Given the description of an element on the screen output the (x, y) to click on. 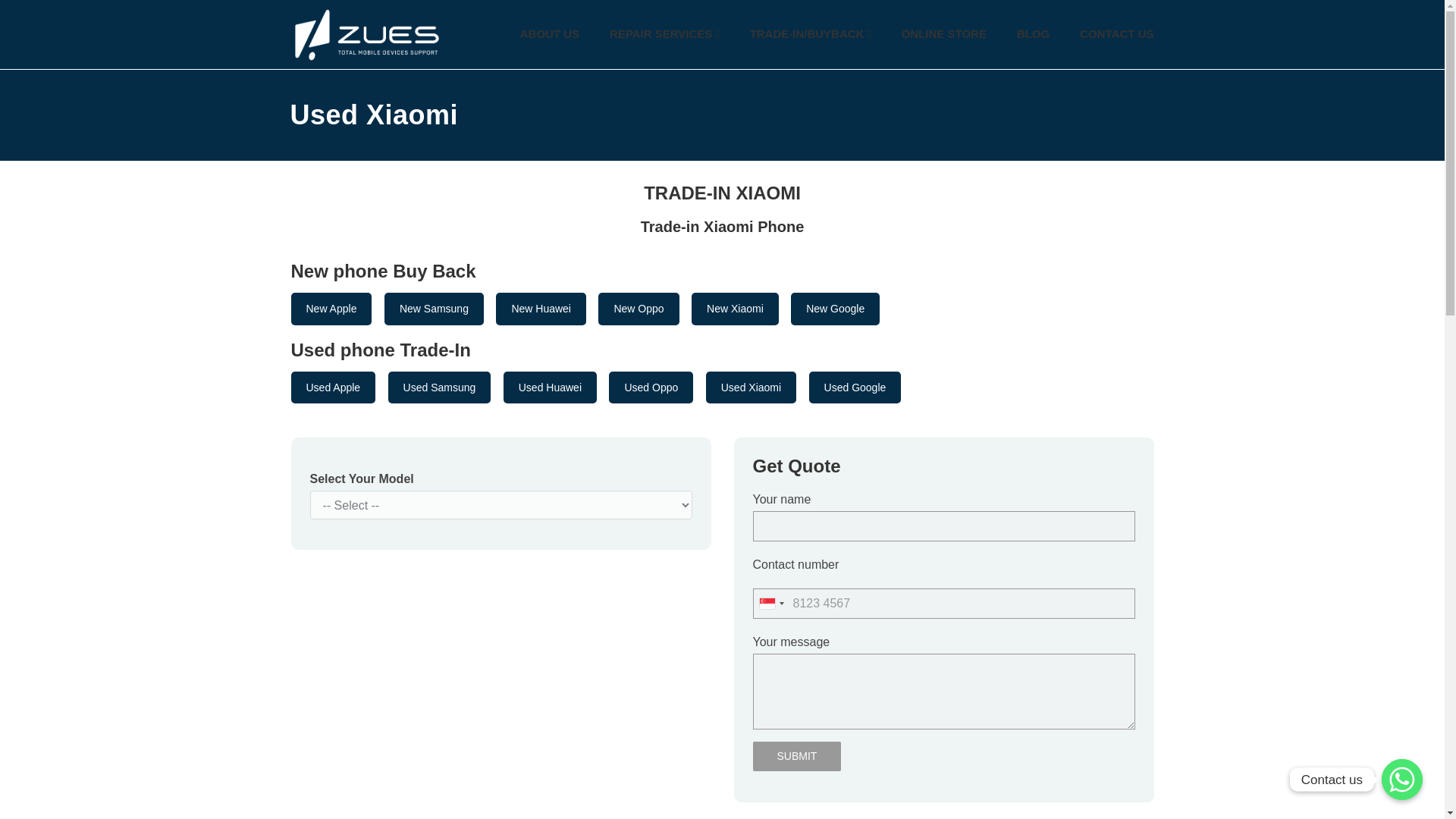
Used Samsung (440, 387)
Used Xiaomi (751, 387)
ABOUT US (549, 34)
Used Google (855, 387)
ONLINE STORE (944, 34)
Submit (796, 757)
New Google (834, 308)
Used Oppo (650, 387)
New Huawei (541, 308)
New Samsung (433, 308)
New Xiaomi (734, 308)
CONTACT US (1116, 34)
Submit (796, 757)
BLOG (1032, 34)
Used Huawei (549, 387)
